Given the description of an element on the screen output the (x, y) to click on. 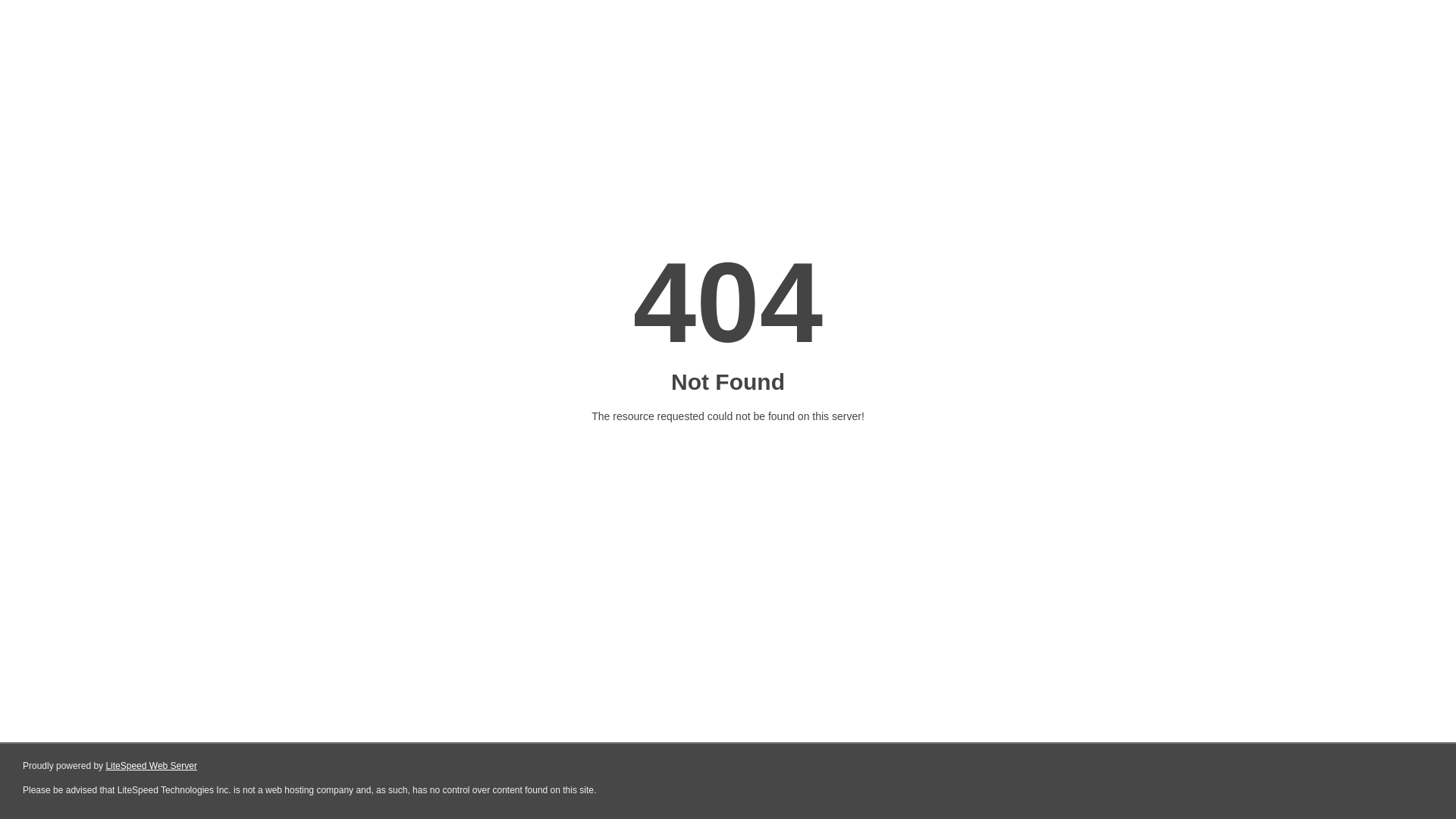
LiteSpeed Web Server Element type: text (151, 765)
